Given the description of an element on the screen output the (x, y) to click on. 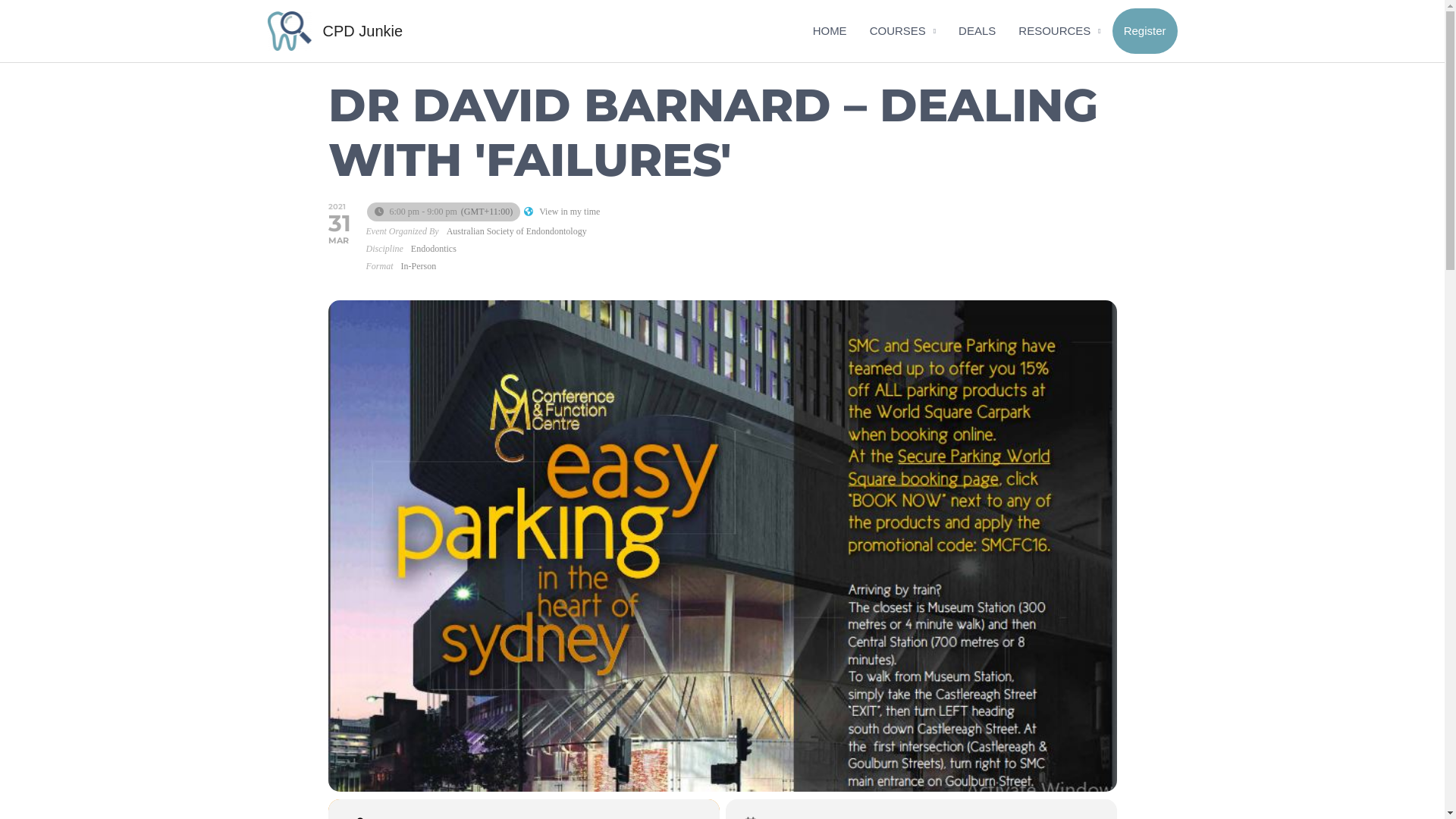
COURSES Element type: text (902, 30)
DEALS Element type: text (977, 30)
Register Element type: text (1144, 30)
RESOURCES Element type: text (1059, 30)
HOME Element type: text (829, 30)
CPD Junkie Element type: text (363, 30)
